Given the description of an element on the screen output the (x, y) to click on. 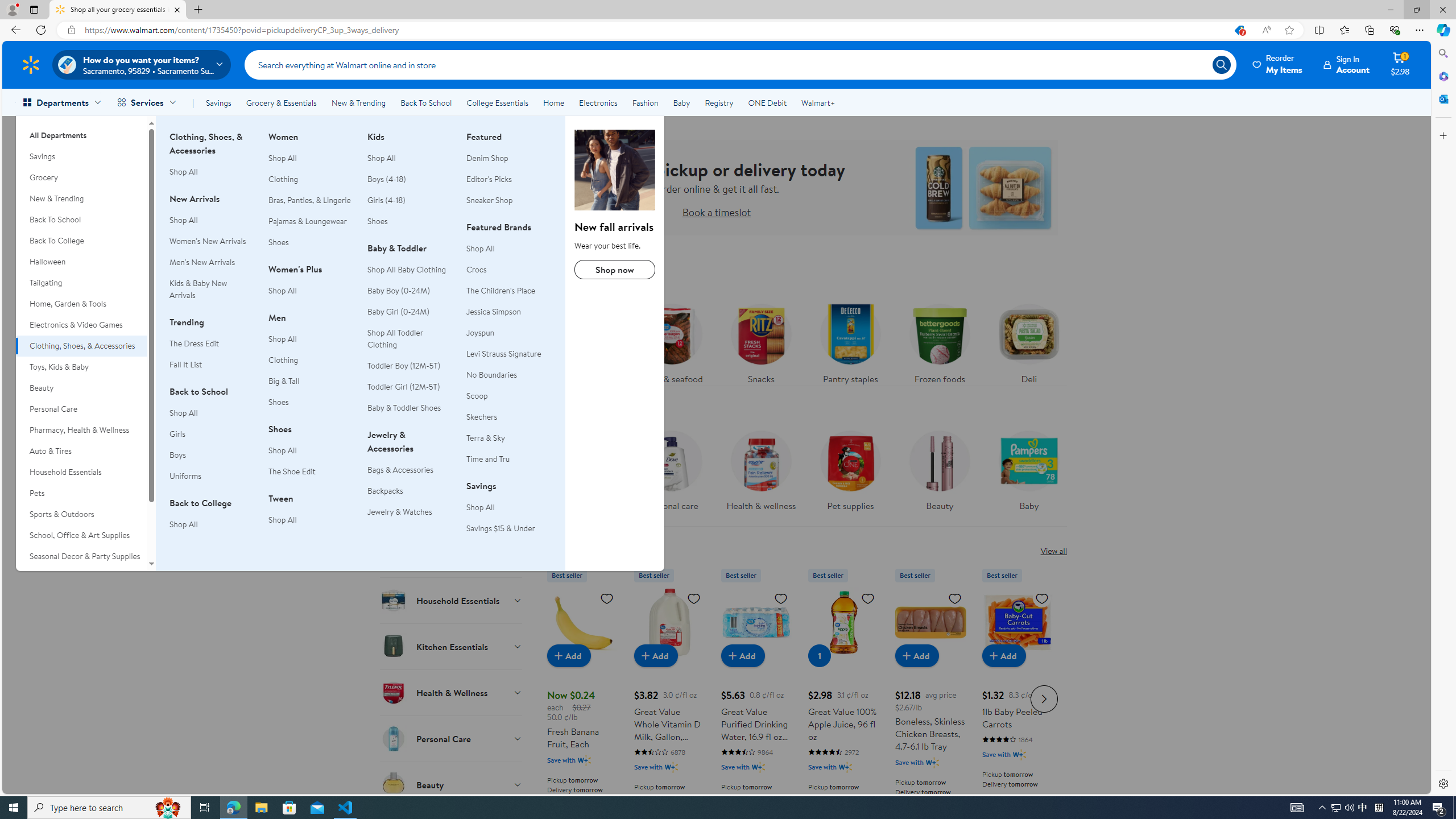
New & Trending (358, 102)
Jewelry & Watches (409, 512)
Fashion (644, 102)
Deli (1028, 340)
Grocery & Essentials (280, 102)
Uniforms (211, 476)
Fresh Banana Fruit, Each (582, 621)
Clothing (310, 360)
Pantry staples (850, 340)
Shop now (615, 269)
